Given the description of an element on the screen output the (x, y) to click on. 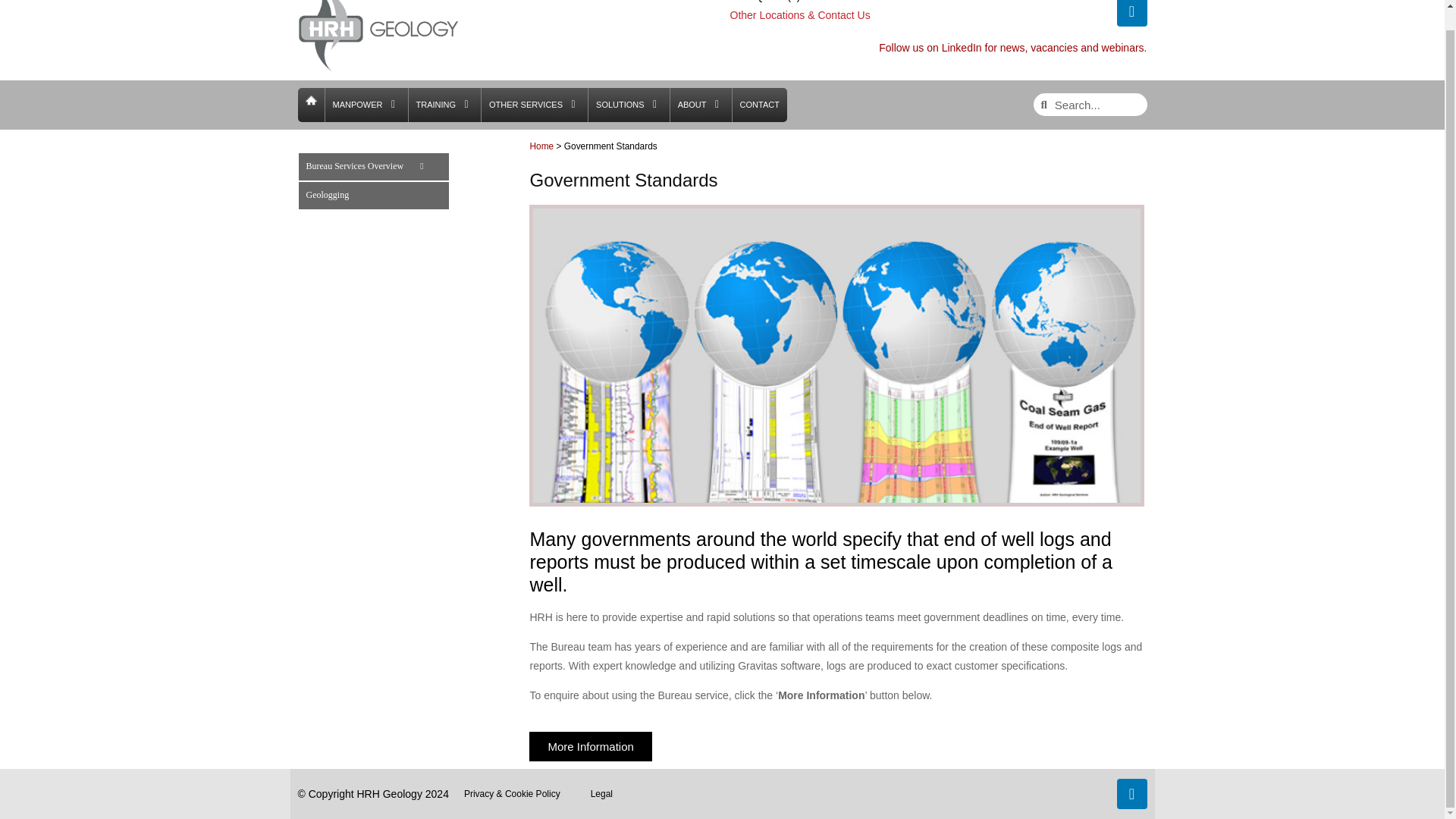
Follow us on LinkedIn for news, vacancies and webinars. (1013, 47)
OTHER SERVICES (525, 104)
MANPOWER (356, 104)
TRAINING (434, 104)
